Given the description of an element on the screen output the (x, y) to click on. 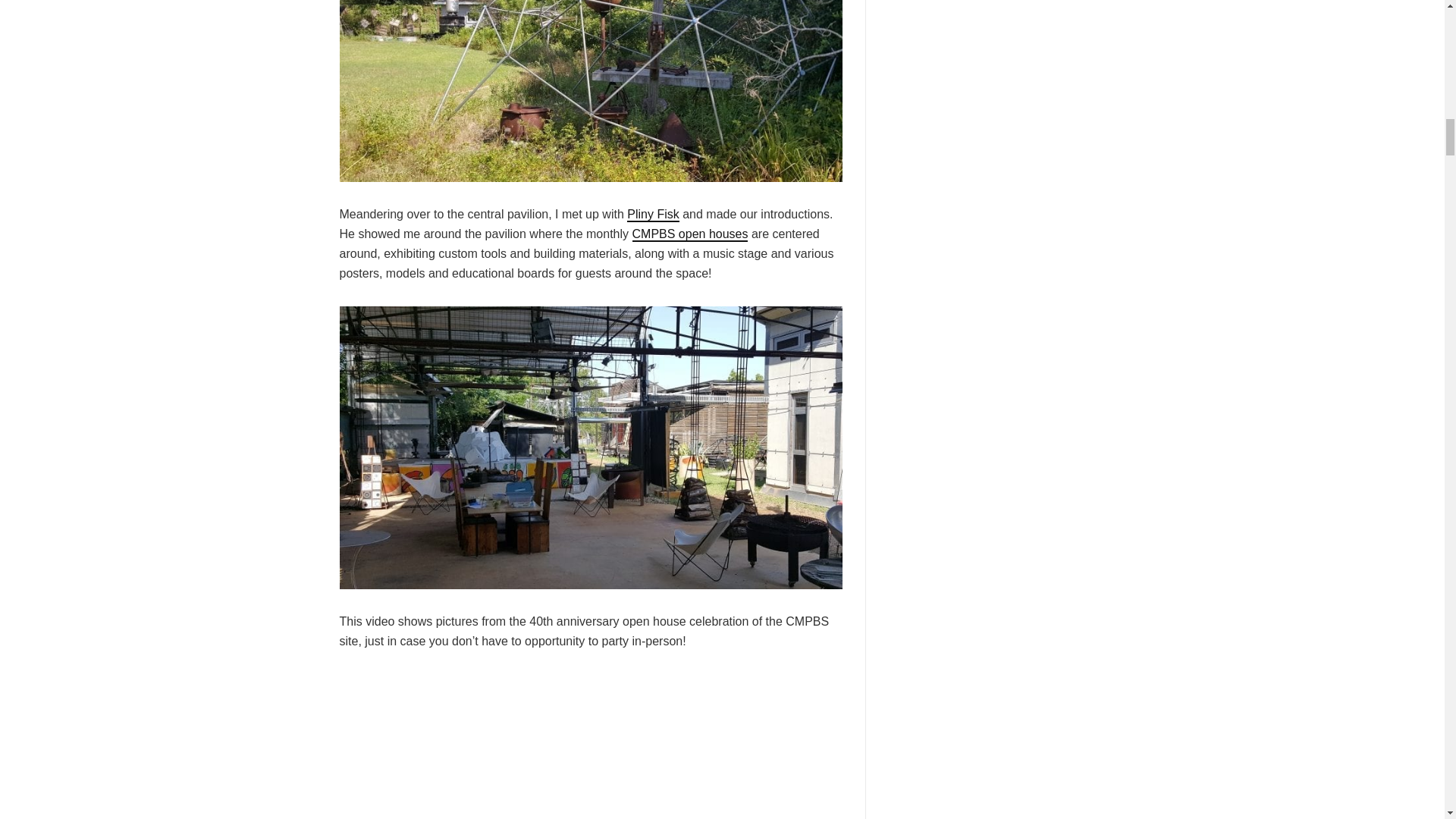
Pliny Fisk (652, 214)
CMPBS open houses (689, 234)
